Given the description of an element on the screen output the (x, y) to click on. 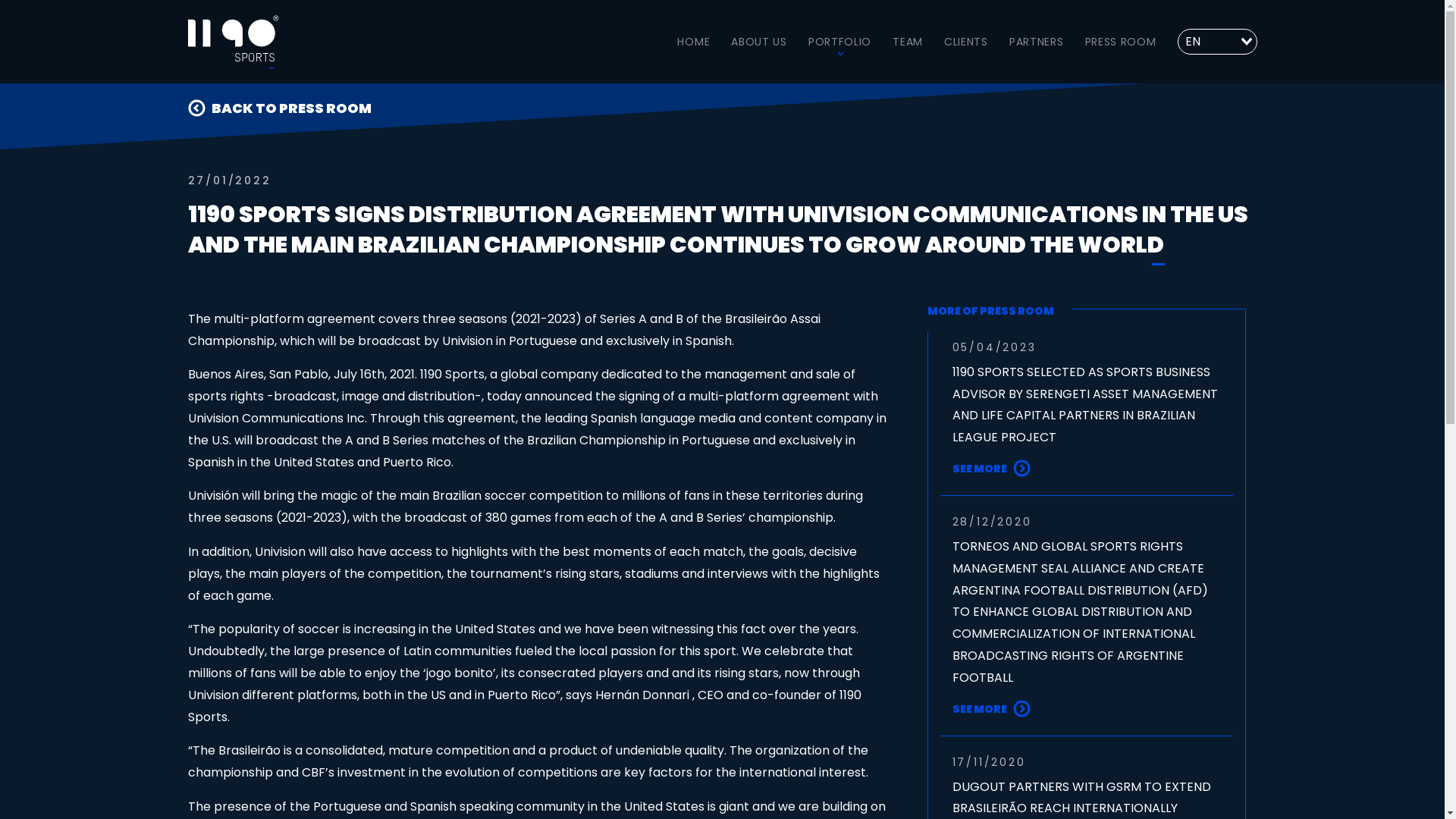
PARTNERS Element type: text (1036, 42)
PRESS ROOM Element type: text (1119, 42)
PORTFOLIO Element type: text (839, 42)
TEAM Element type: text (907, 42)
HOME Element type: text (693, 42)
SEE MORE Element type: text (979, 468)
ABOUT US Element type: text (759, 42)
CLIENTS Element type: text (966, 42)
BACK TO PRESS ROOM Element type: text (722, 107)
SEE MORE Element type: text (979, 709)
